Given the description of an element on the screen output the (x, y) to click on. 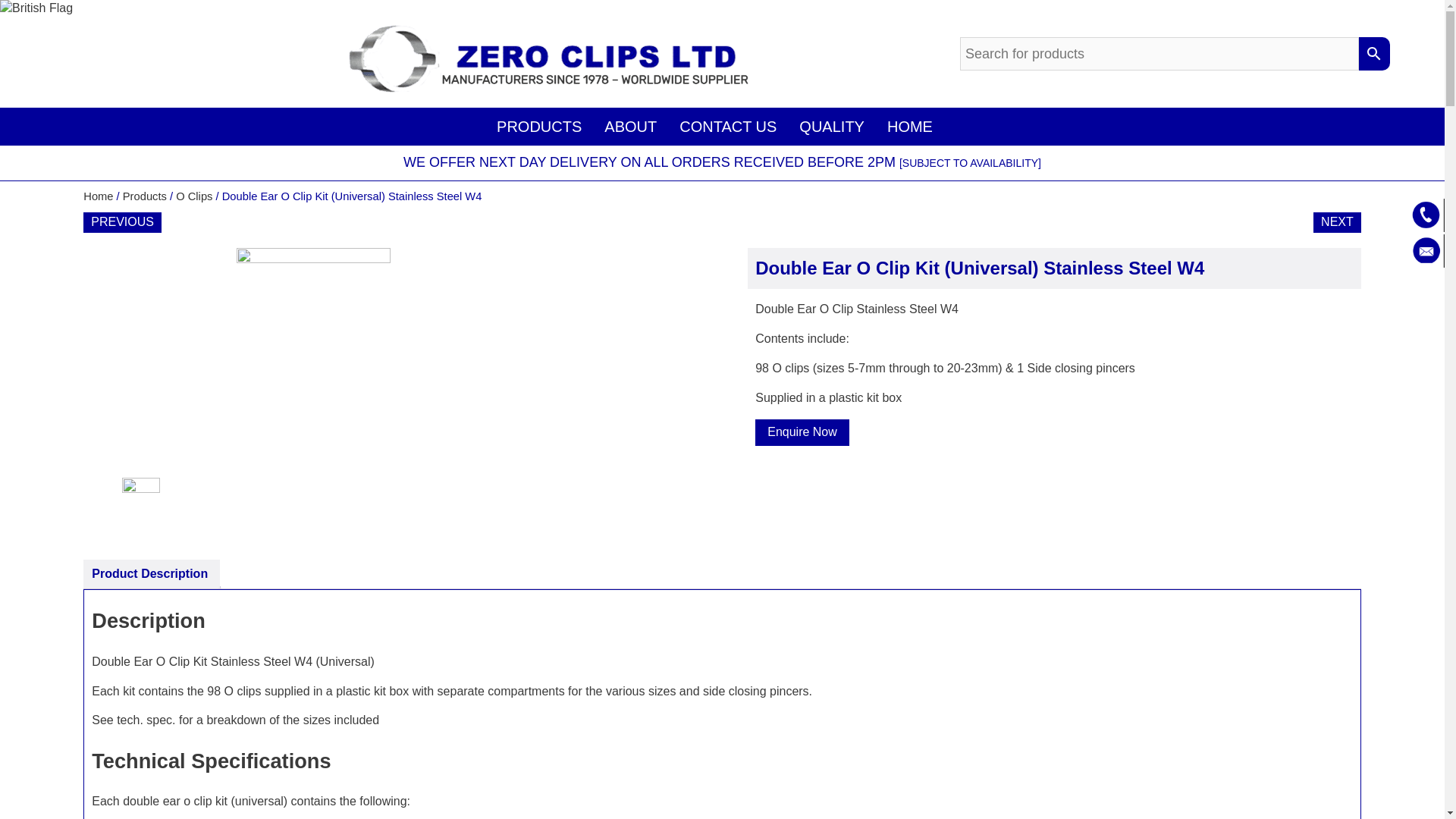
PREVIOUS (121, 222)
OCLIPKIT NO Writing (389, 362)
ABOUT (630, 126)
O Clips (194, 196)
Home (97, 196)
HOME (909, 126)
QUALITY (831, 126)
Products (144, 196)
PRODUCTS (538, 126)
CONTACT US (727, 126)
OCLIPKIT NO Writing (160, 506)
